Given the description of an element on the screen output the (x, y) to click on. 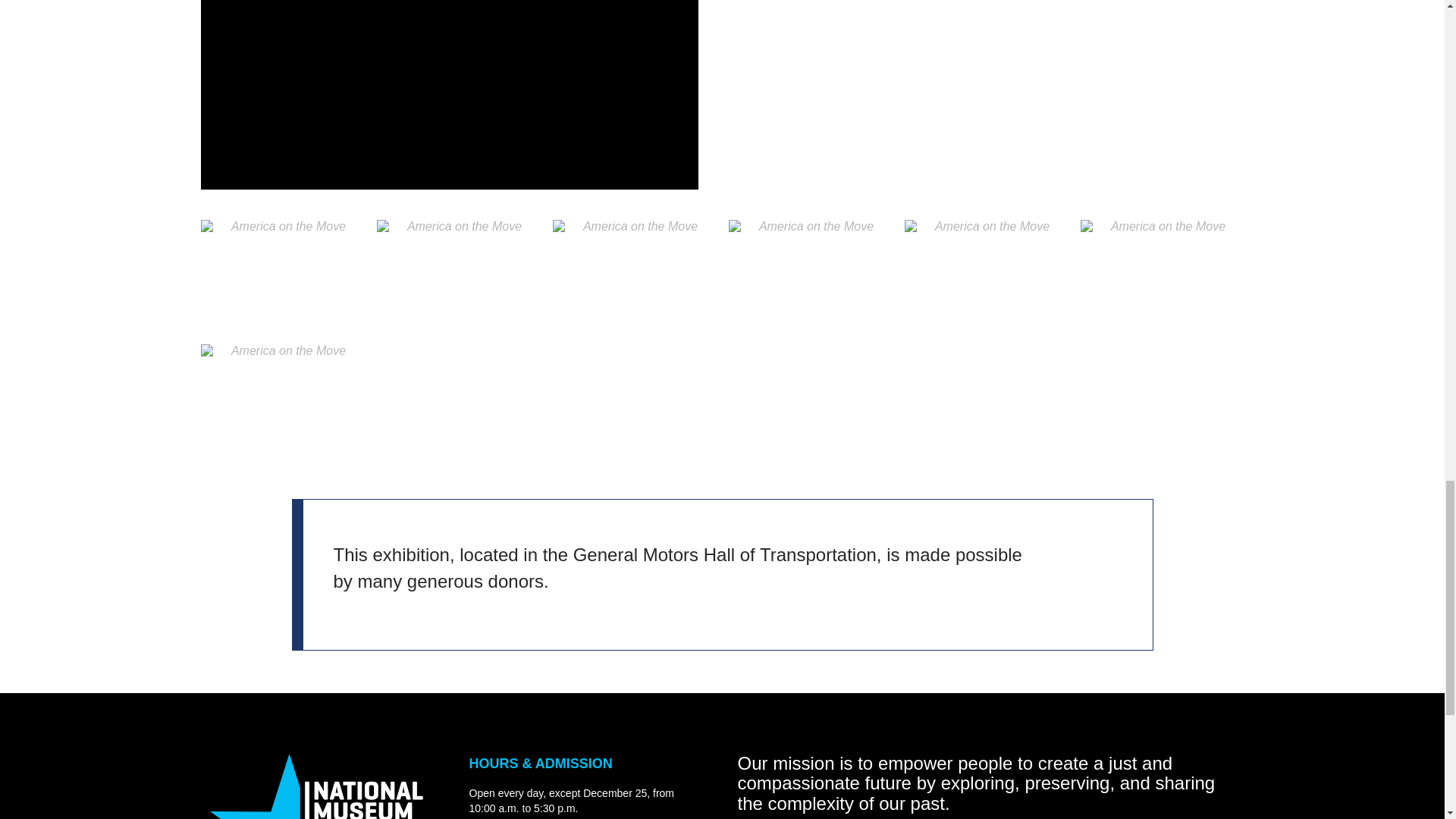
Visitors at the America on the Move exhibition (985, 276)
Visitors at the America on the Move exhibition (1161, 276)
Visitors at the America on the Move exhibition (457, 276)
Visitors at the America on the Move exhibition (282, 399)
Visitors at the America on the Move exhibition (633, 276)
Visitors at the America on the Move exhibition (282, 276)
Visitors at the America on the Move exhibition (448, 94)
Visitors at the America on the Move exhibition (809, 276)
